Given the description of an element on the screen output the (x, y) to click on. 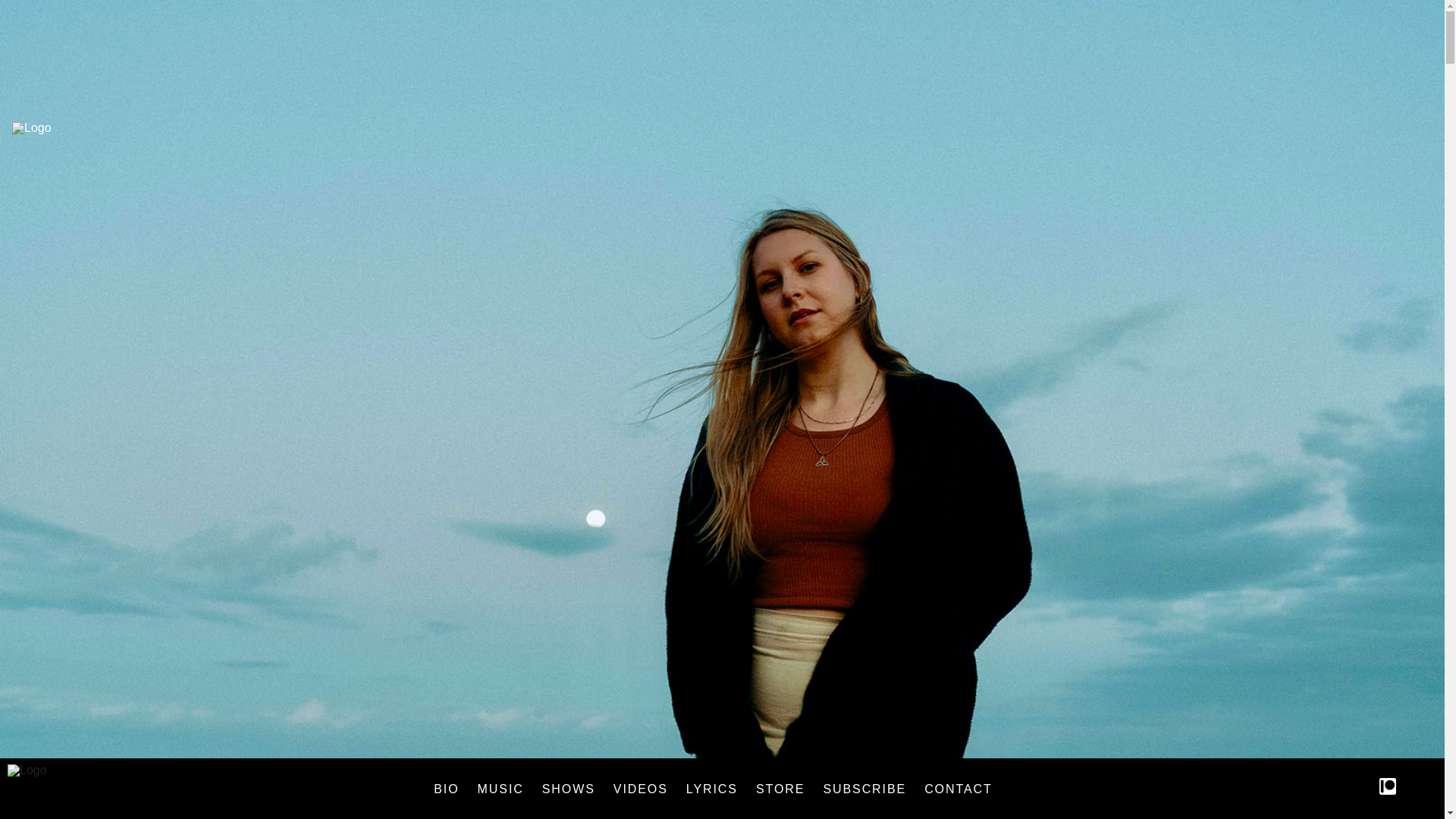
CONTACT Element type: text (958, 789)
VIDEOS Element type: text (640, 789)
BIO Element type: text (445, 789)
MUSIC Element type: text (500, 789)
SHOWS Element type: text (568, 789)
STORE Element type: text (780, 789)
LYRICS Element type: text (711, 789)
SUBSCRIBE Element type: text (864, 789)
